Given the description of an element on the screen output the (x, y) to click on. 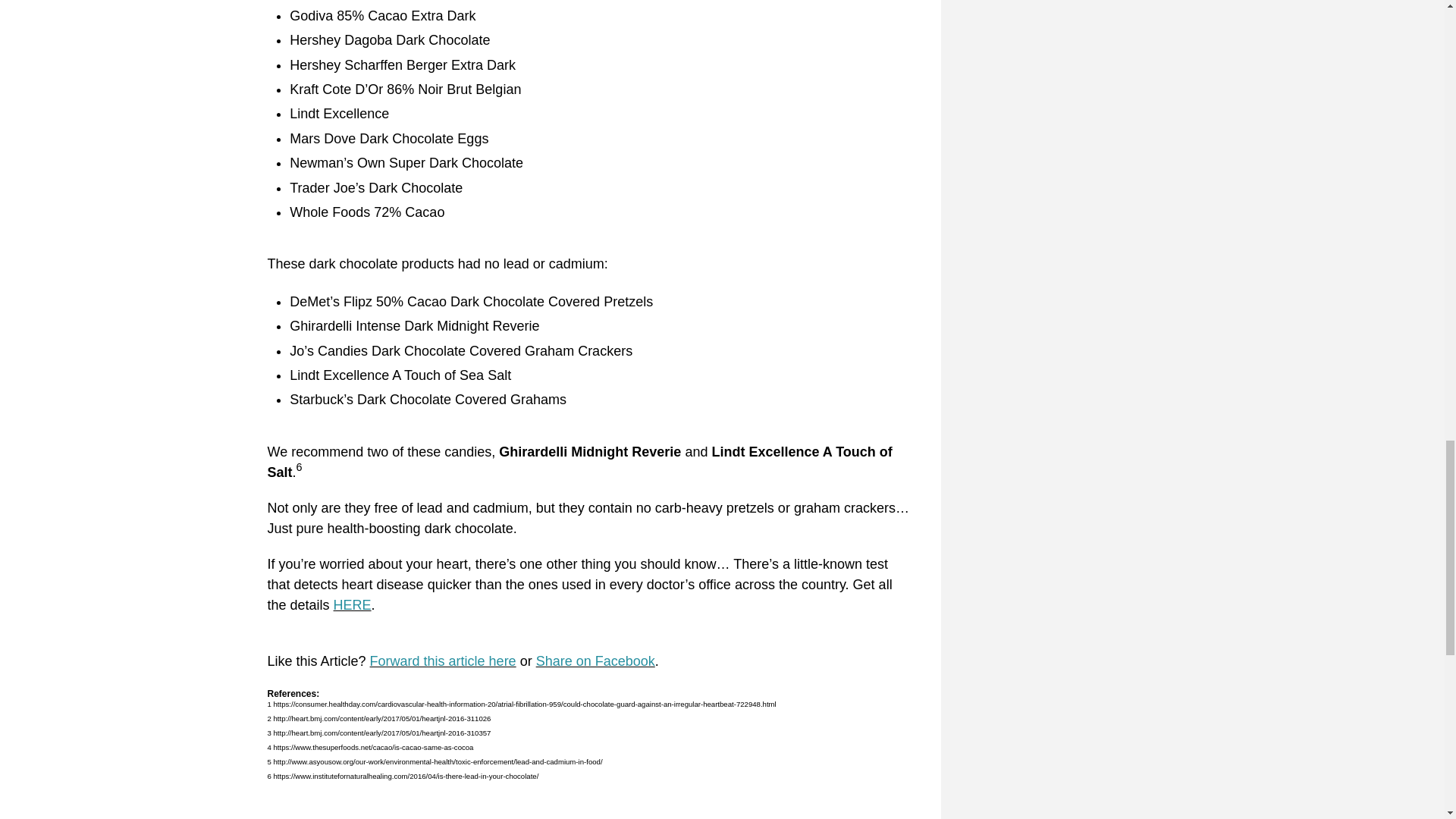
forever (369, 80)
